Given the description of an element on the screen output the (x, y) to click on. 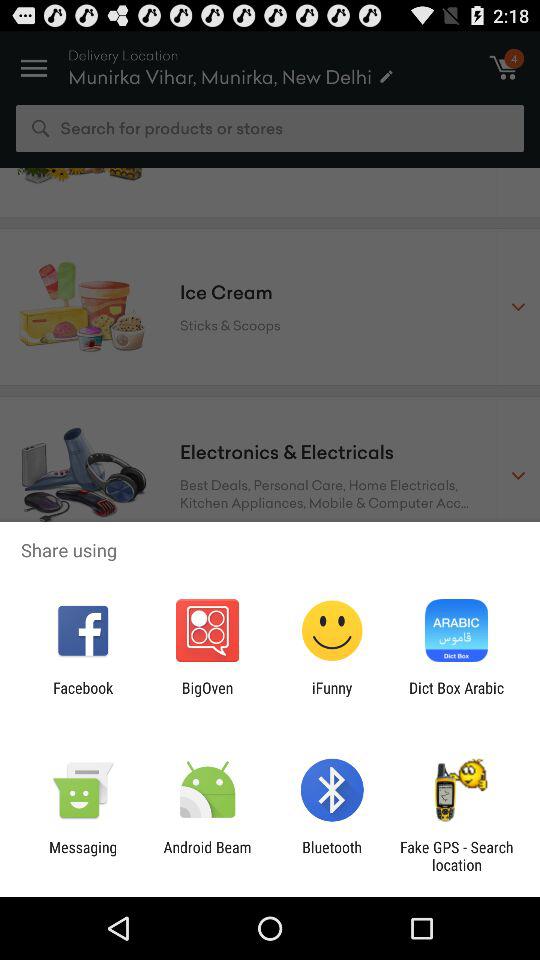
click icon next to the fake gps search app (331, 856)
